Given the description of an element on the screen output the (x, y) to click on. 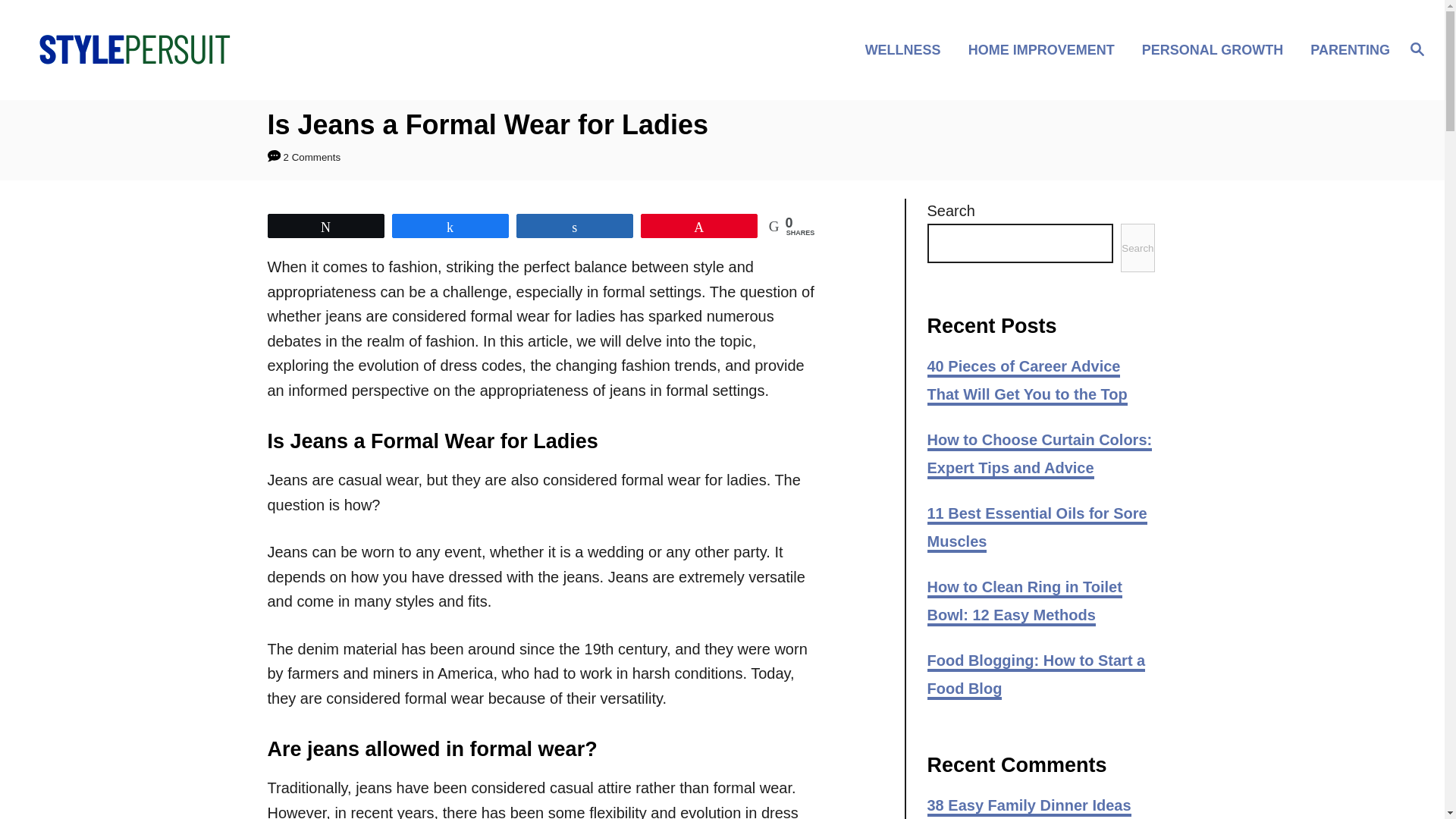
Food Blogging: How to Start a Food Blog (1035, 675)
WELLNESS (907, 49)
Magnifying Glass (1416, 48)
HOME IMPROVEMENT (1045, 49)
38 Easy Family Dinner Ideas for Any Day - StylePersuit (1028, 807)
11 Best Essential Oils for Sore Muscles (1036, 528)
How to Choose Curtain Colors: Expert Tips and Advice (1038, 455)
PERSONAL GROWTH (1216, 49)
40 Pieces of Career Advice That Will Get You to the Top (1026, 381)
How to Clean Ring in Toilet Bowl: 12 Easy Methods (1023, 602)
